Given the description of an element on the screen output the (x, y) to click on. 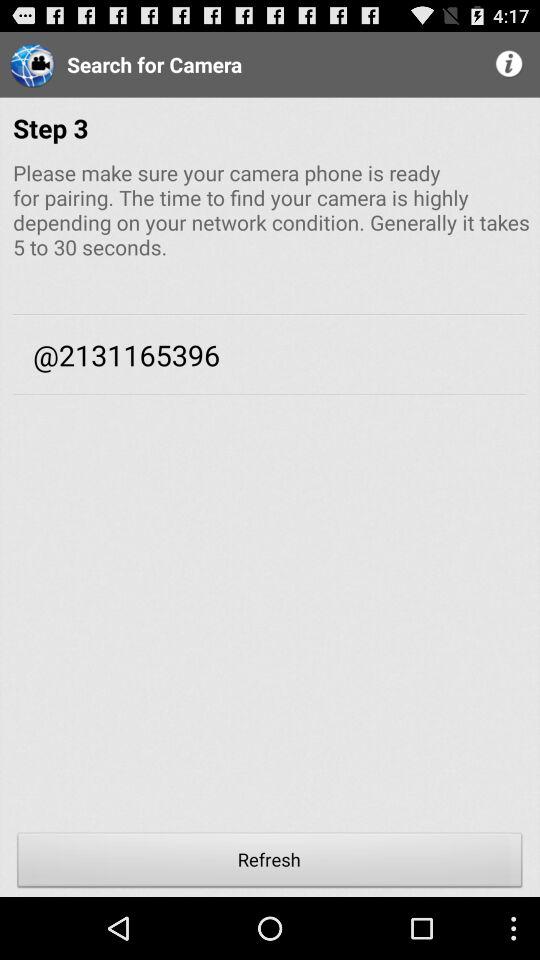
turn off the item above the step 3 (509, 63)
